Given the description of an element on the screen output the (x, y) to click on. 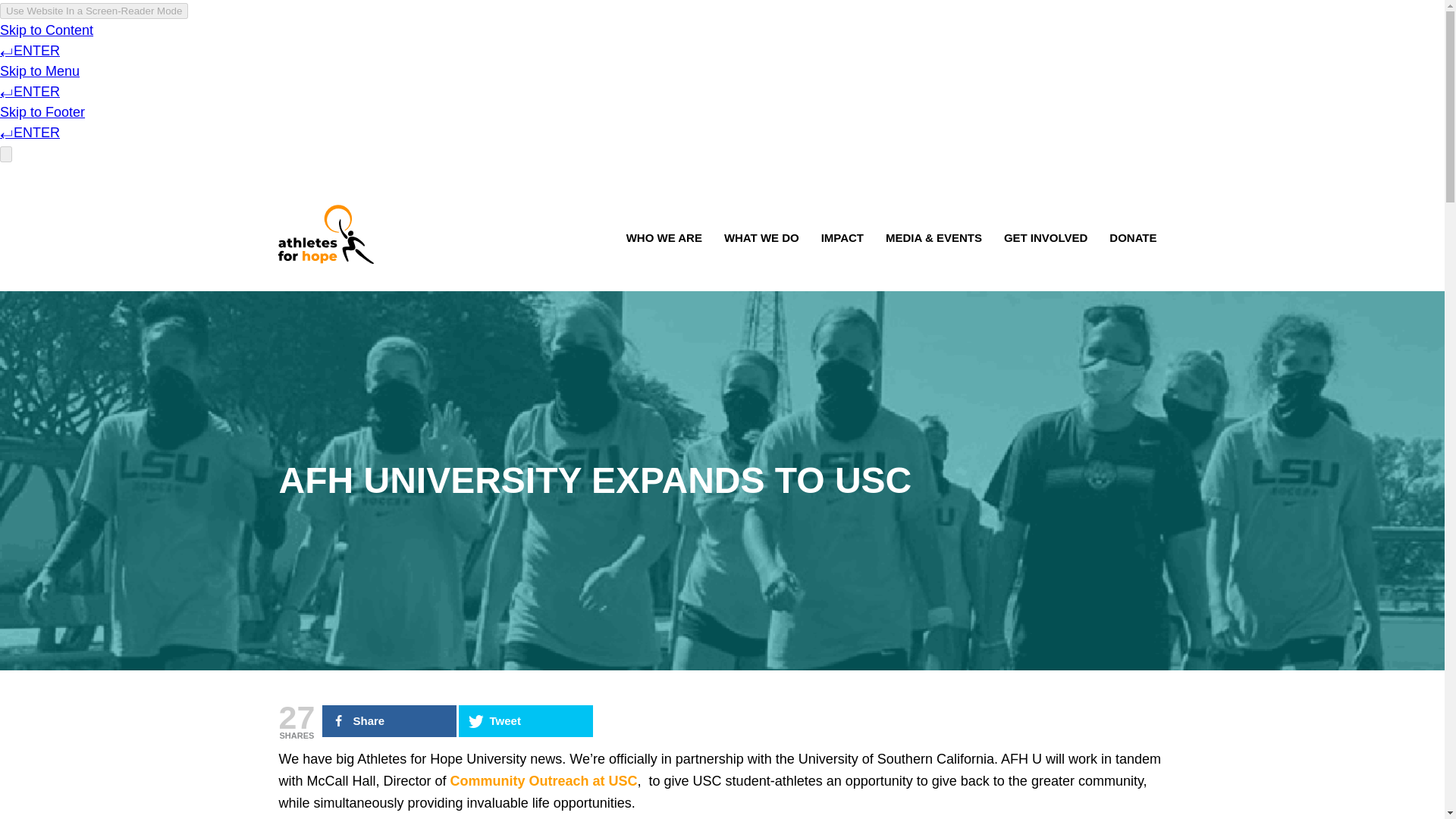
WHAT WE DO (761, 239)
WHO WE ARE (664, 239)
IMPACT (842, 239)
GET INVOLVED (1045, 239)
Athletes for Hope (326, 233)
